Given the description of an element on the screen output the (x, y) to click on. 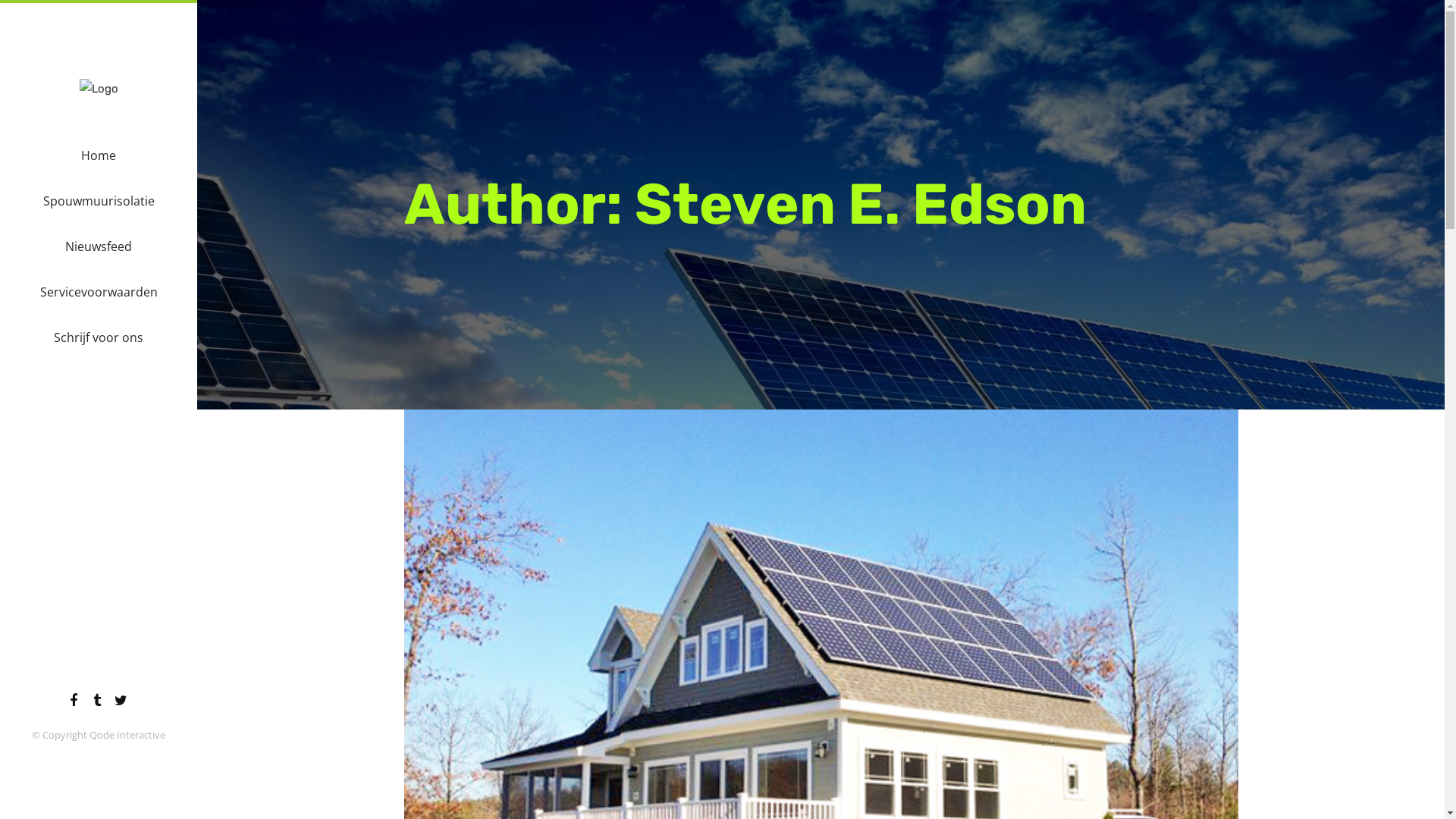
Spouwmuurisolatie Element type: text (98, 200)
Qode Interactive Element type: text (127, 734)
Servicevoorwaarden Element type: text (98, 291)
Nieuwsfeed Element type: text (98, 246)
Schrijf voor ons Element type: text (98, 337)
Home Element type: text (98, 155)
